Given the description of an element on the screen output the (x, y) to click on. 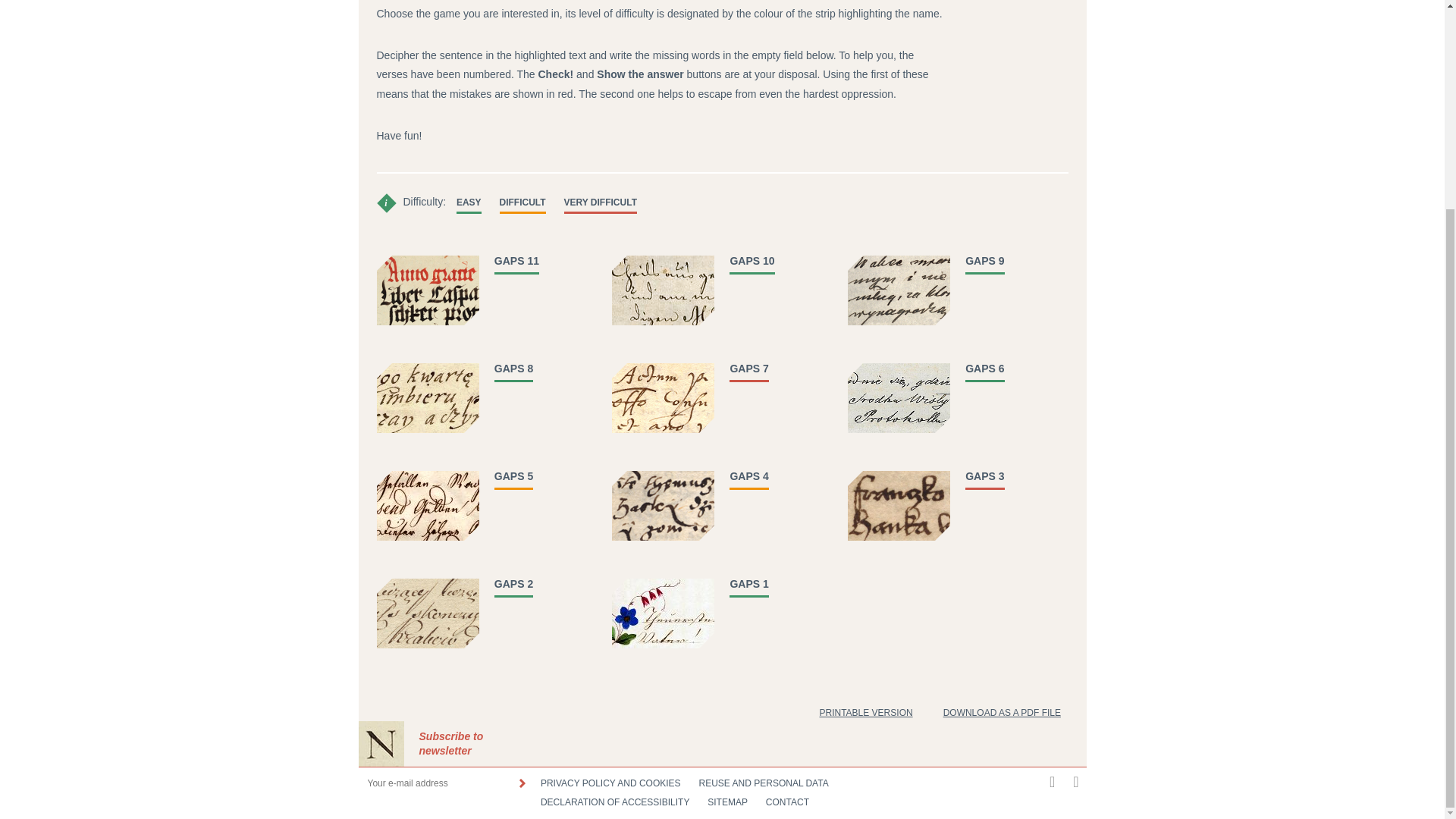
Subskrybuj (520, 783)
GAPS 8 (513, 368)
Display a printer-friendly version of this page. (865, 712)
GAPS 10 (751, 260)
GAPS 9 (984, 260)
GAPS 11 (516, 260)
Display a PDF version of this page. (1002, 712)
